Given the description of an element on the screen output the (x, y) to click on. 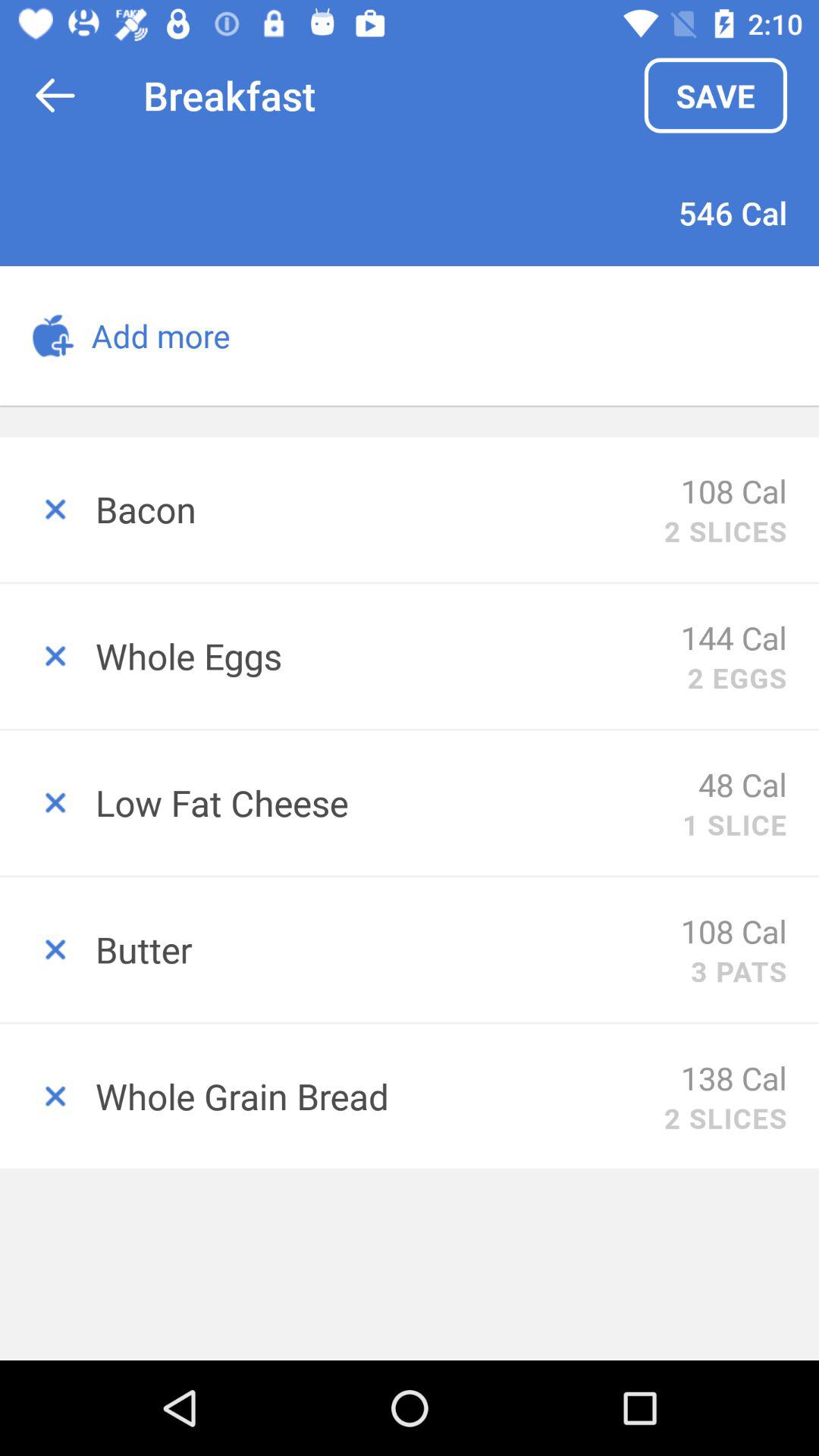
press the icon above 2 slices item (733, 1077)
